Given the description of an element on the screen output the (x, y) to click on. 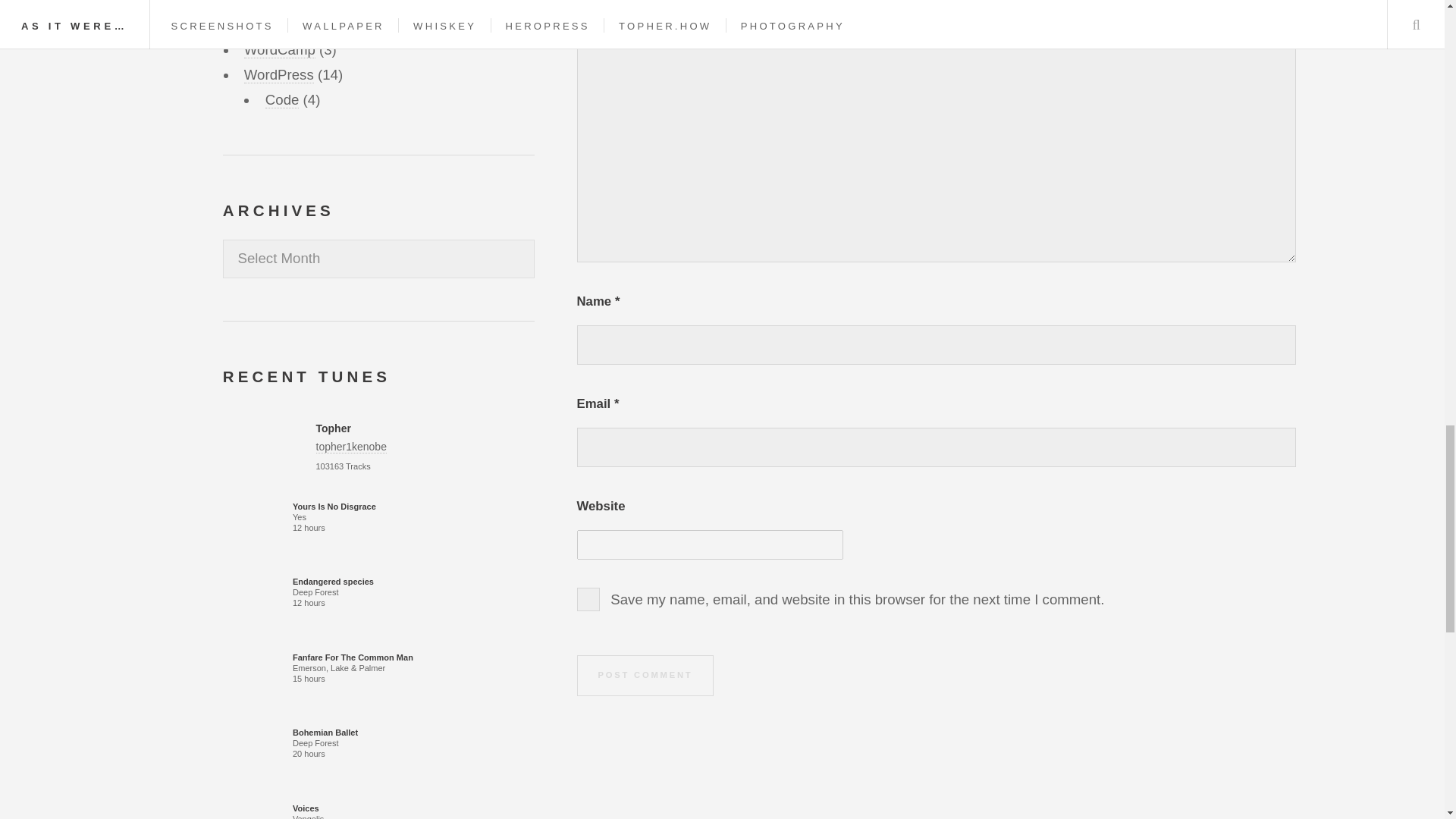
Post Comment (644, 675)
Post Comment (644, 675)
